Given the description of an element on the screen output the (x, y) to click on. 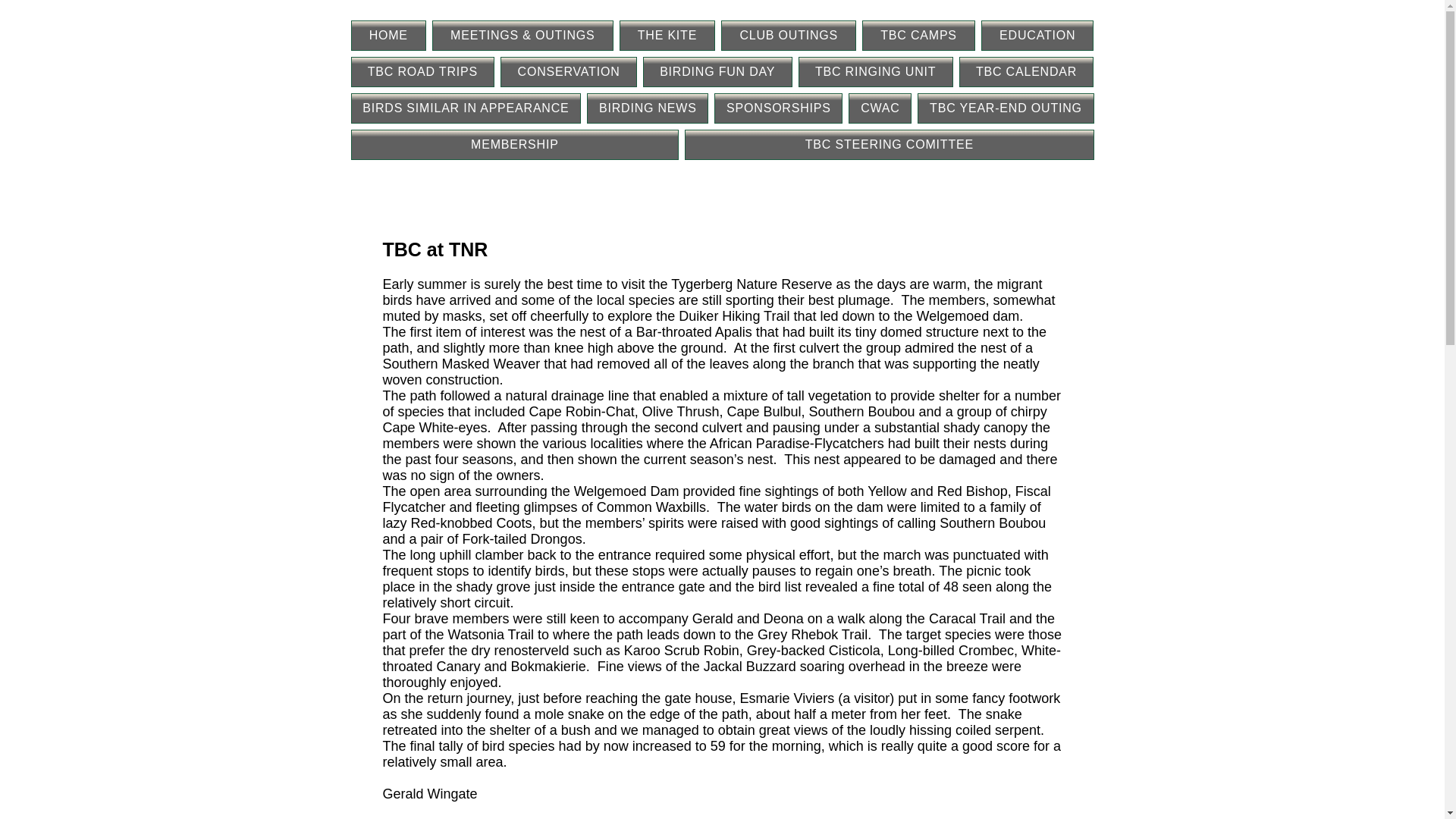
BIRDING NEWS (646, 108)
TBC RINGING UNIT (875, 71)
TBC CAMPS (918, 35)
SPONSORSHIPS (778, 108)
CLUB OUTINGS (788, 35)
EDUCATION (1037, 35)
TBC YEAR-END OUTING (1005, 108)
CWAC (879, 108)
TBC STEERING COMITTEE (888, 144)
MEMBERSHIP (514, 144)
